Given the description of an element on the screen output the (x, y) to click on. 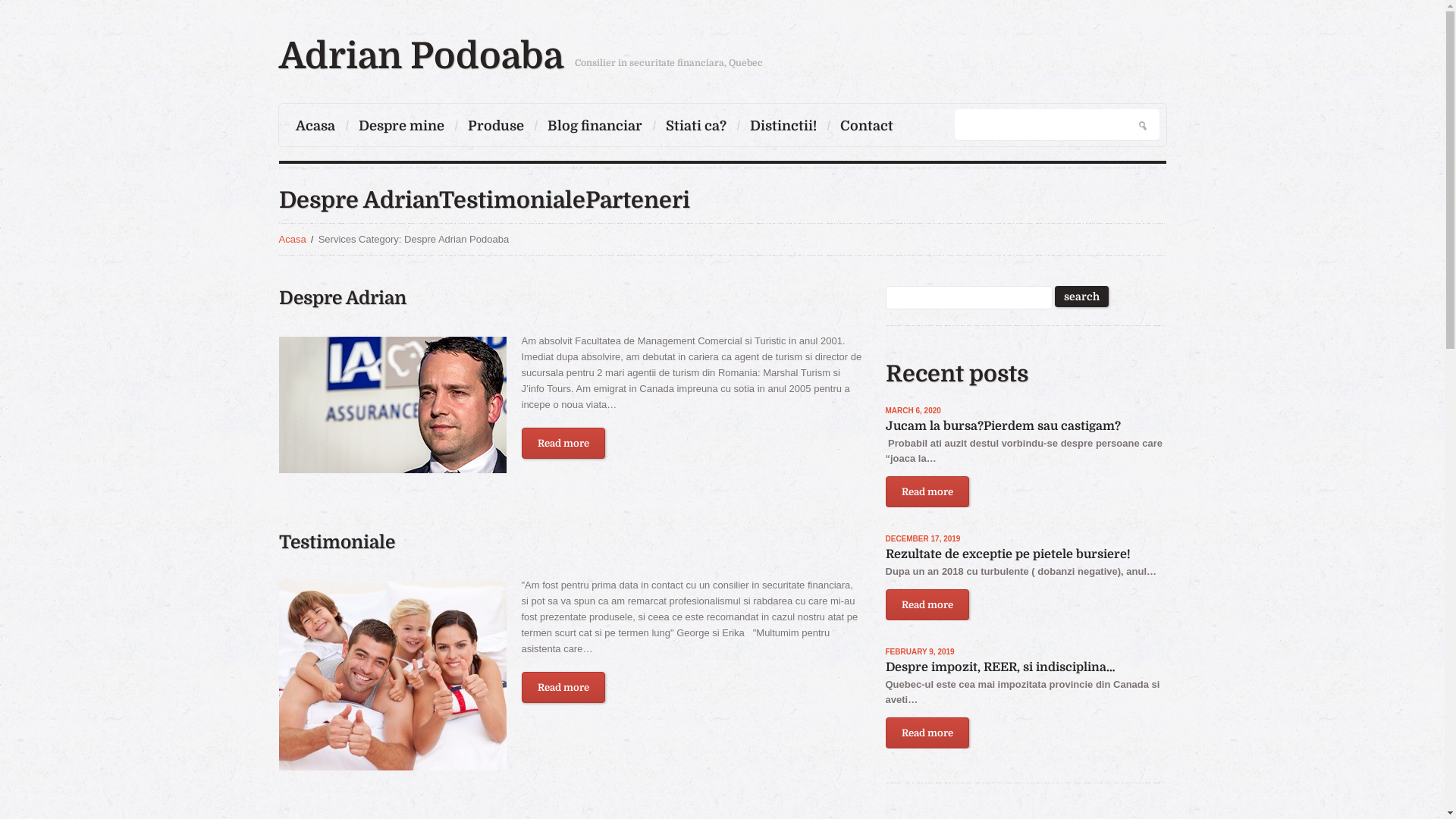
Stiati ca? Element type: text (695, 125)
Read more Element type: text (927, 491)
Despre mine Element type: text (400, 125)
Jucam la bursa?Pierdem sau castigam? Element type: text (1002, 425)
Read more Element type: text (563, 442)
Distinctii! Element type: text (782, 125)
Adrian Podoaba Element type: text (421, 56)
Read more Element type: text (927, 603)
Acasa Element type: text (315, 125)
Contact Element type: text (866, 125)
Read more Element type: text (563, 686)
Despre Adrian Element type: hover (392, 404)
Testimoniale Element type: hover (392, 675)
Acasa Element type: text (292, 238)
Blog financiar Element type: text (594, 125)
Read more Element type: text (927, 732)
search Element type: text (1081, 296)
Testimoniale Element type: text (337, 541)
Despre Adrian Element type: text (342, 297)
Produse Element type: text (495, 125)
Rezultate de exceptie pe pietele bursiere! Element type: text (1007, 554)
